Given the description of an element on the screen output the (x, y) to click on. 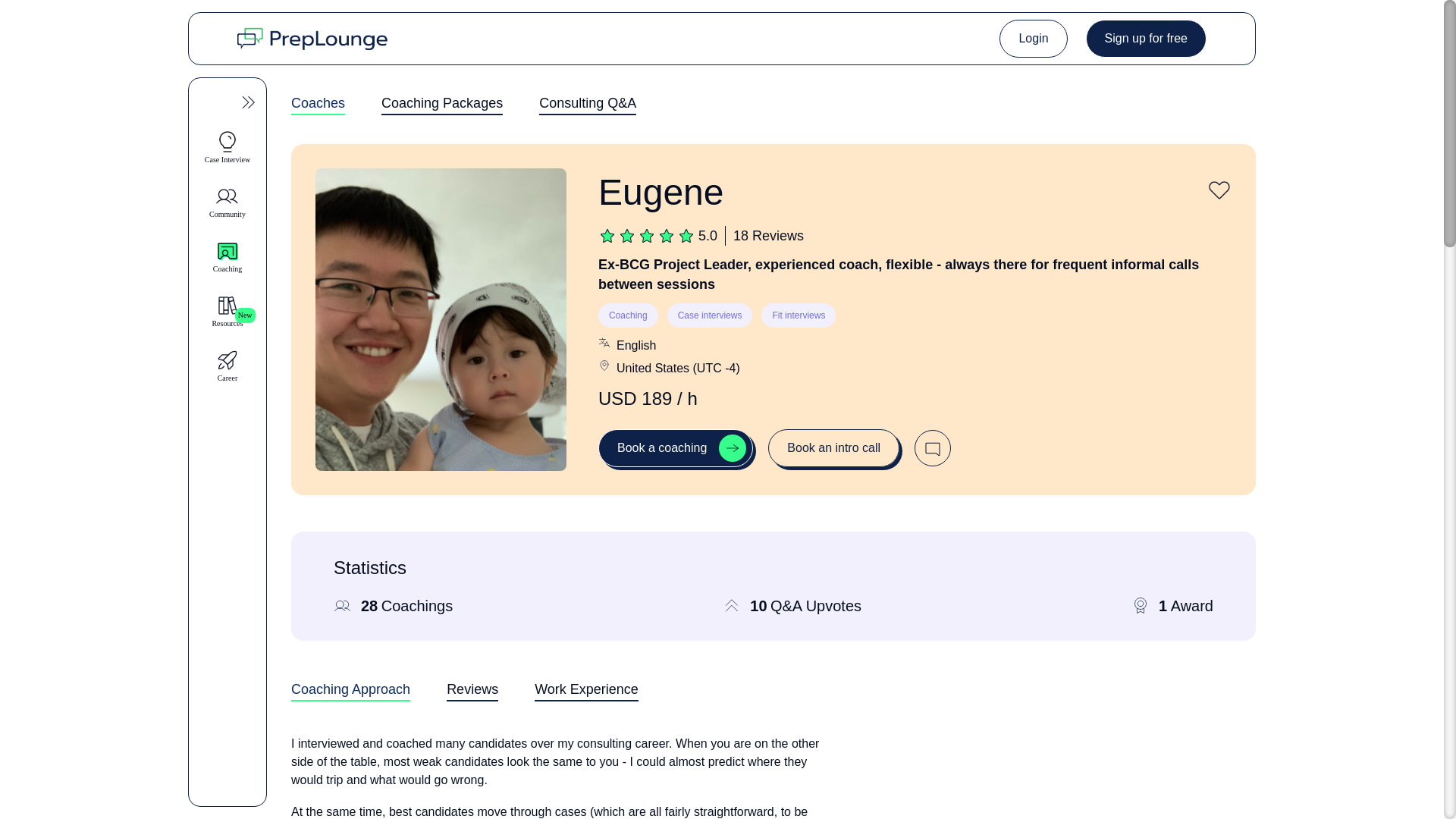
Community (227, 202)
Case Interview (773, 698)
Sign up for free (227, 147)
Login (1146, 38)
